Given the description of an element on the screen output the (x, y) to click on. 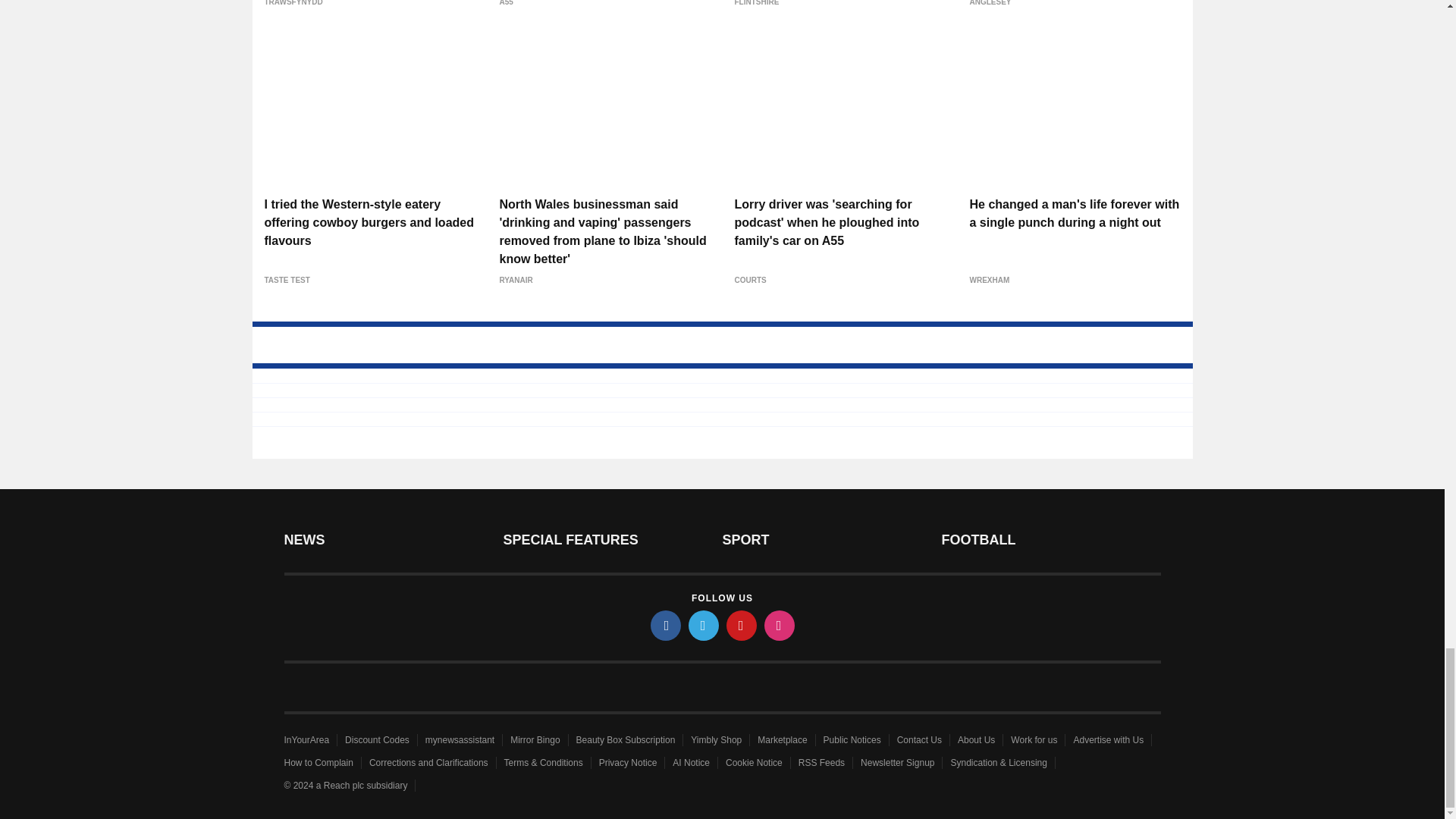
pinterest (741, 625)
instagram (779, 625)
facebook (665, 625)
twitter (703, 625)
